Given the description of an element on the screen output the (x, y) to click on. 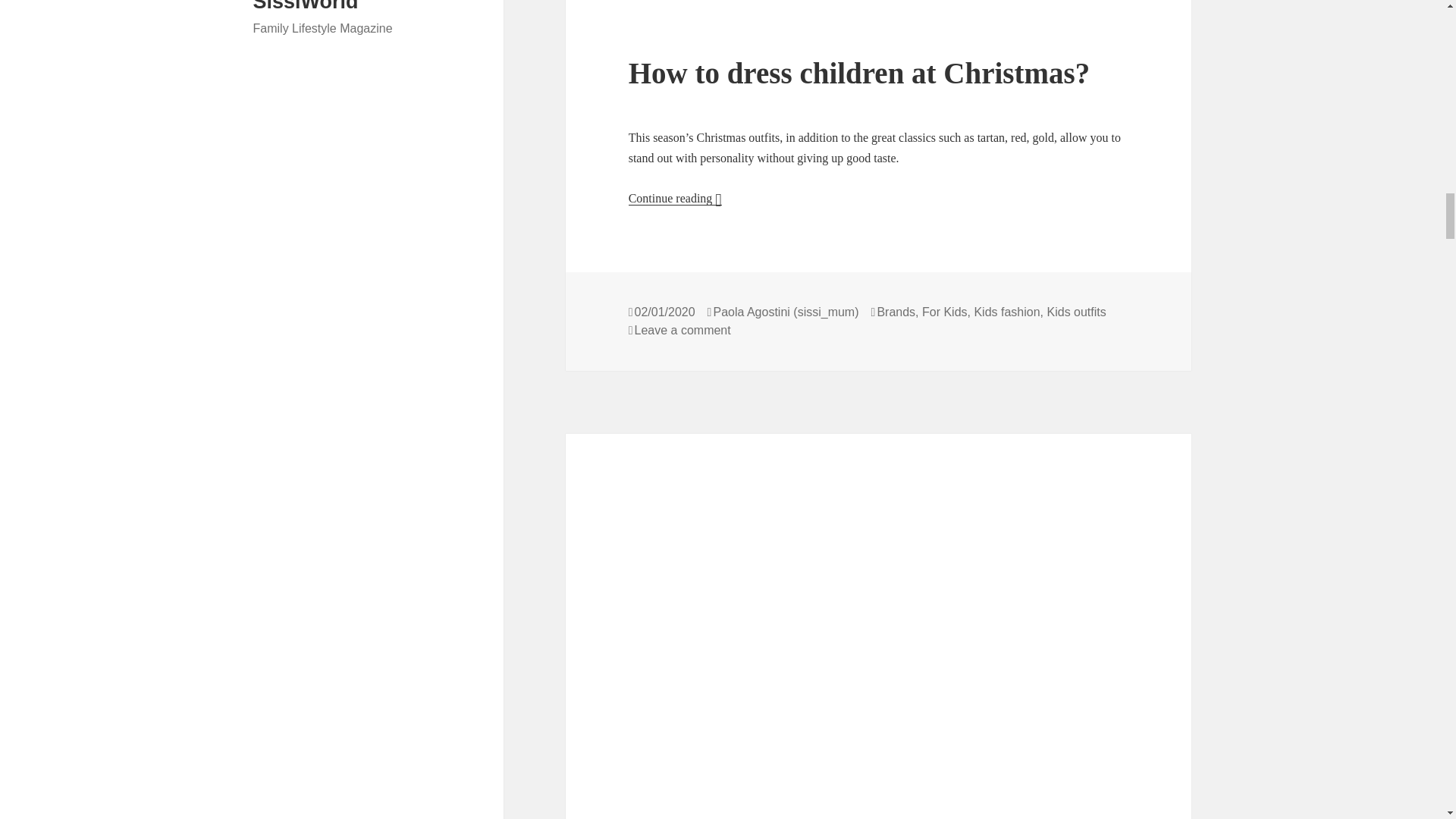
How to dress children at Christmas? (675, 198)
